Given the description of an element on the screen output the (x, y) to click on. 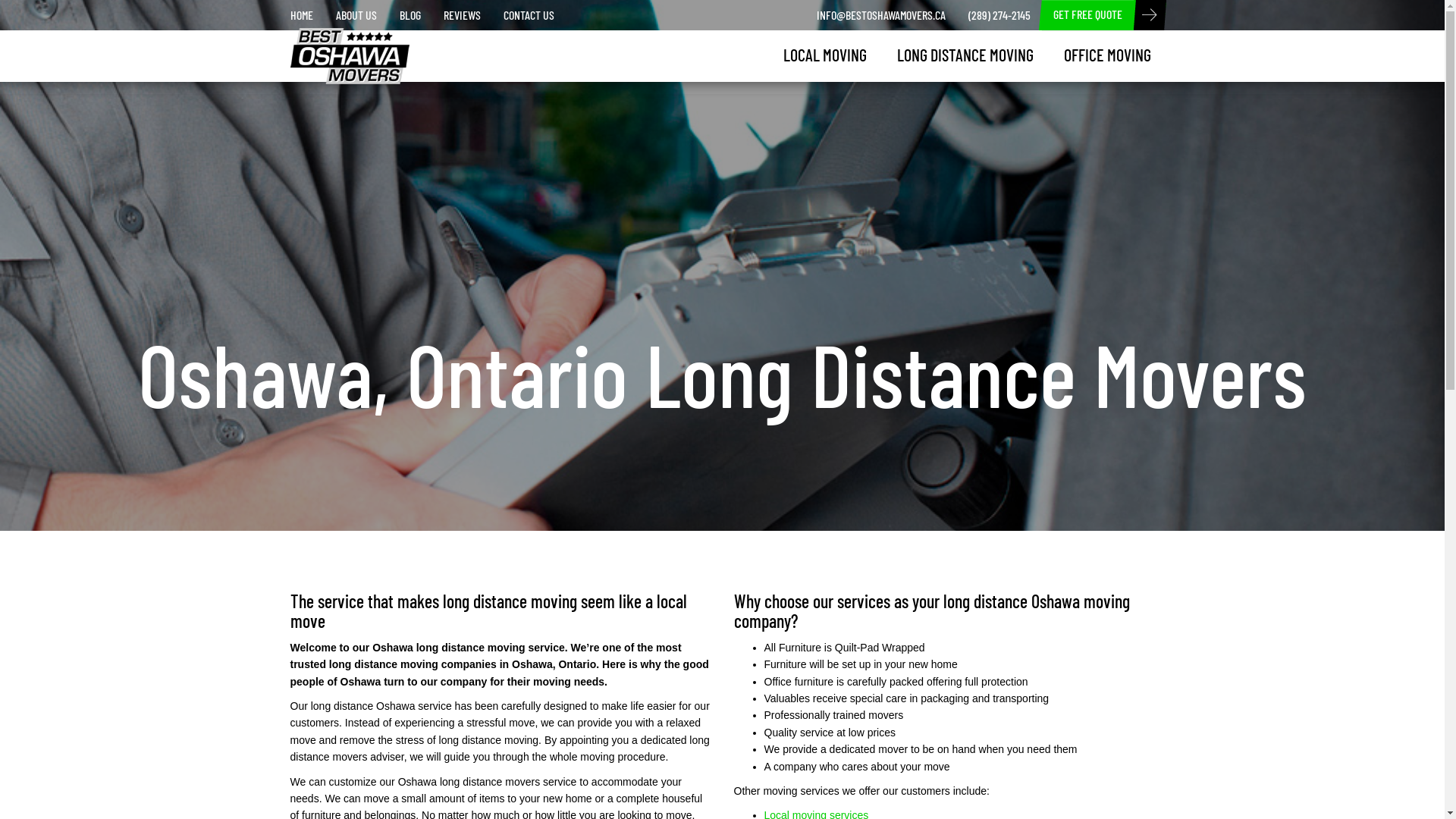
HOME Element type: text (301, 15)
GET FREE QUOTE Element type: text (1087, 15)
REVIEWS Element type: text (462, 15)
(289) 274-2145 Element type: text (999, 15)
ABOUT US Element type: text (356, 15)
LONG DISTANCE MOVING Element type: text (964, 54)
CONTACT US Element type: text (527, 15)
Best Oshawa Movers Element type: hover (337, 46)
LOCAL MOVING Element type: text (824, 54)
INFO@BESTOSHAWAMOVERS.CA Element type: text (881, 15)
BLOG Element type: text (410, 15)
OFFICE MOVING Element type: text (1106, 54)
